Given the description of an element on the screen output the (x, y) to click on. 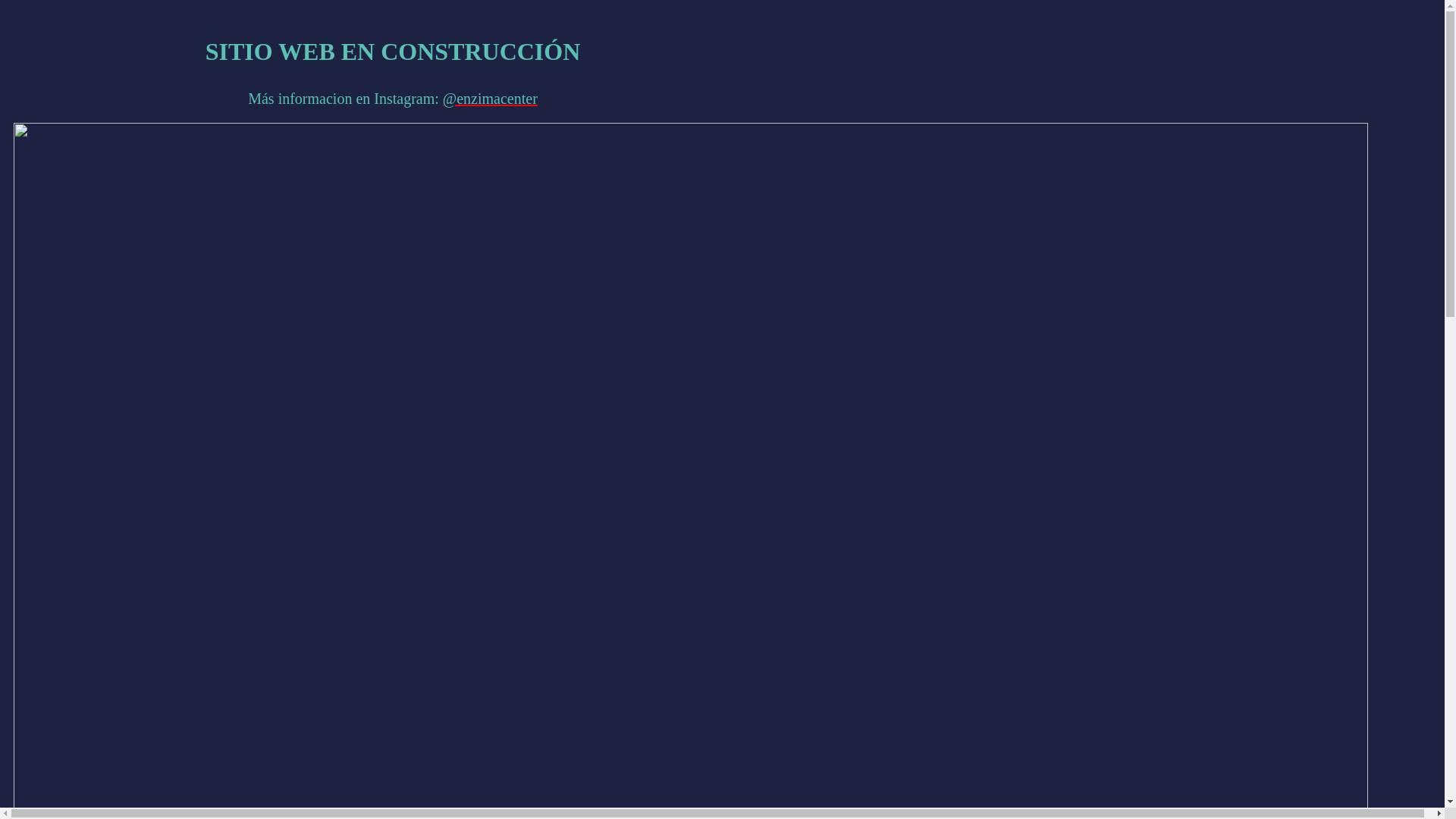
@enzimacenter Element type: text (489, 98)
